Given the description of an element on the screen output the (x, y) to click on. 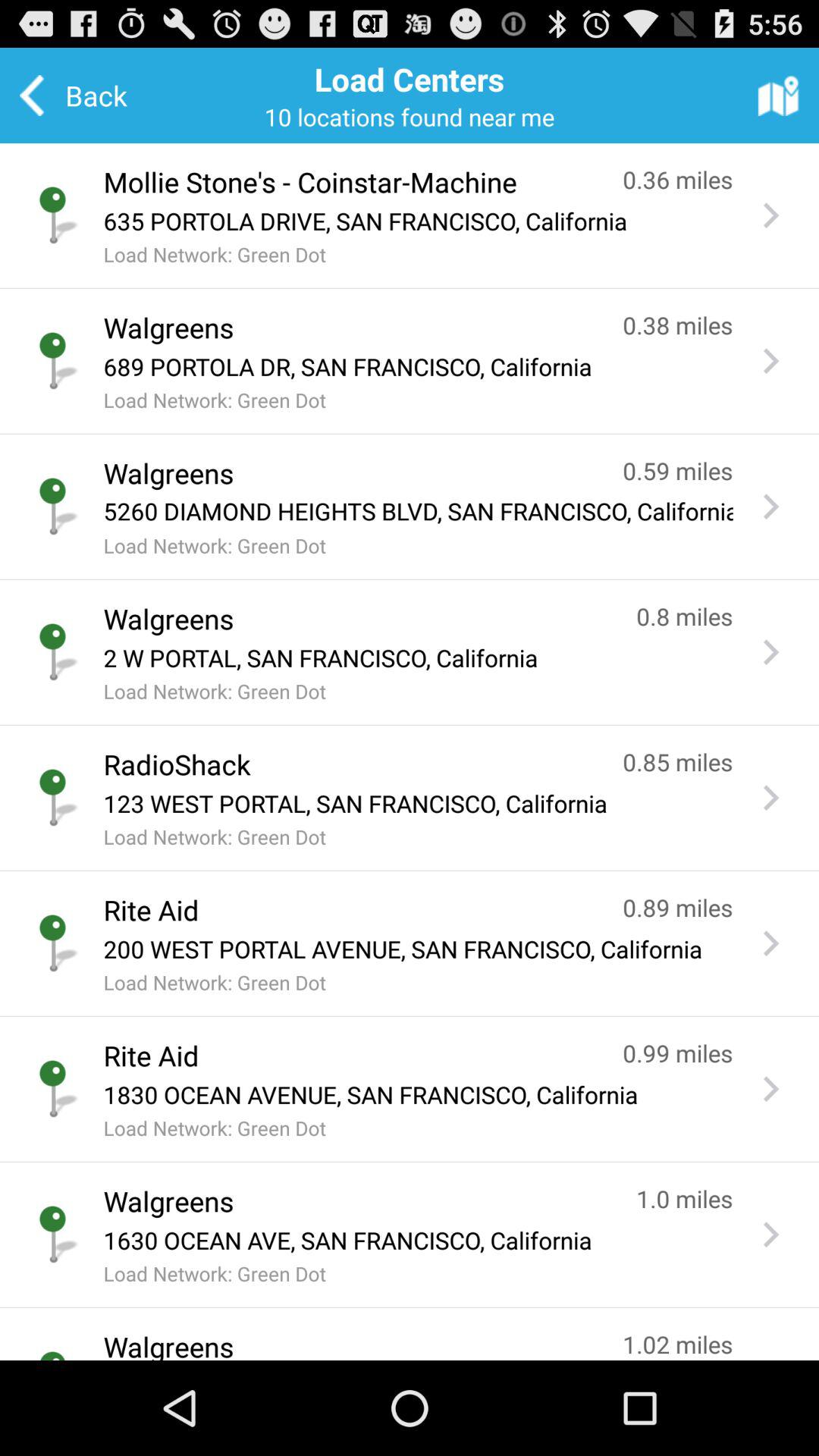
open icon to the left of the 0.36 miles app (347, 181)
